Given the description of an element on the screen output the (x, y) to click on. 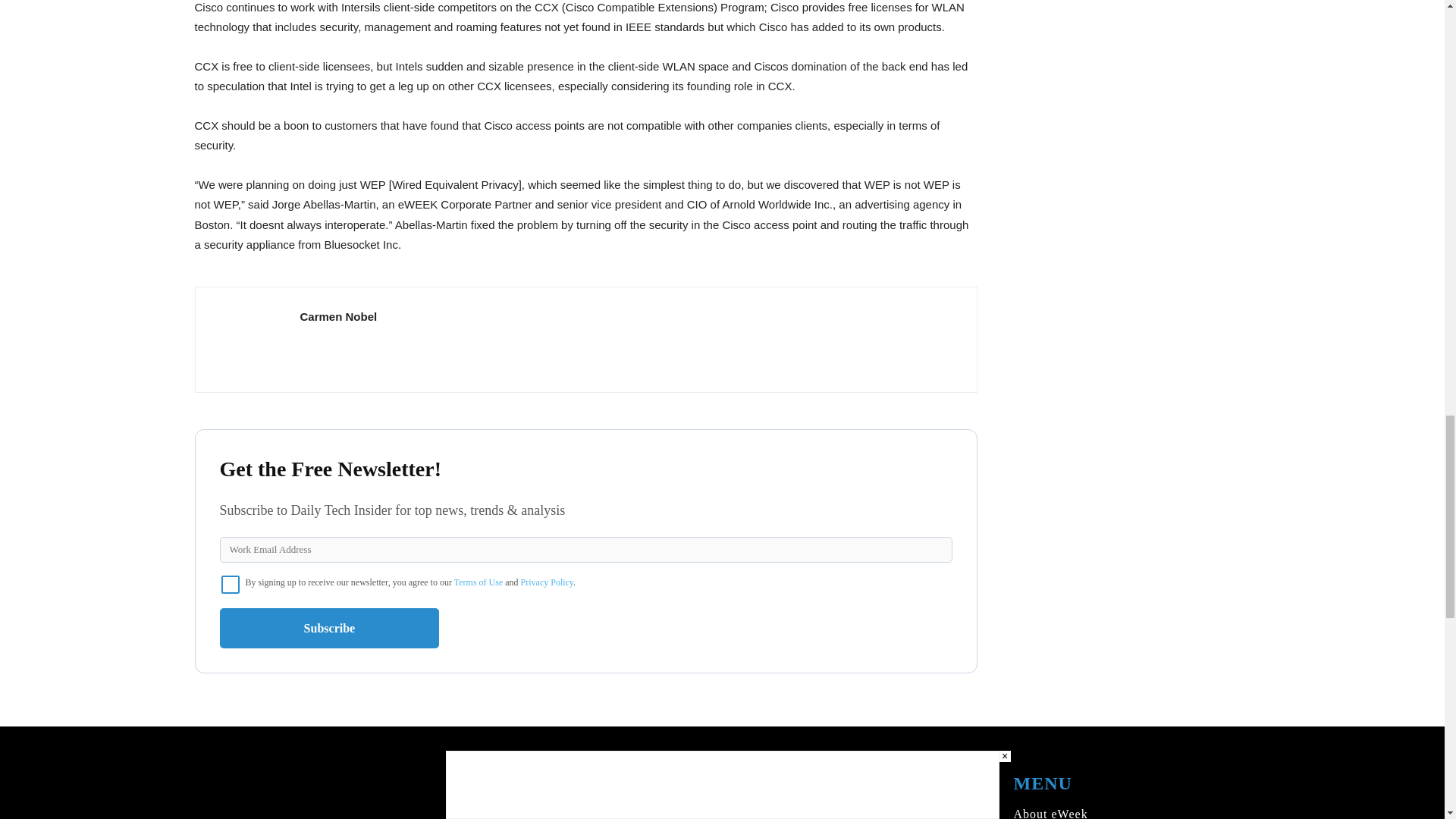
on (230, 584)
